Given the description of an element on the screen output the (x, y) to click on. 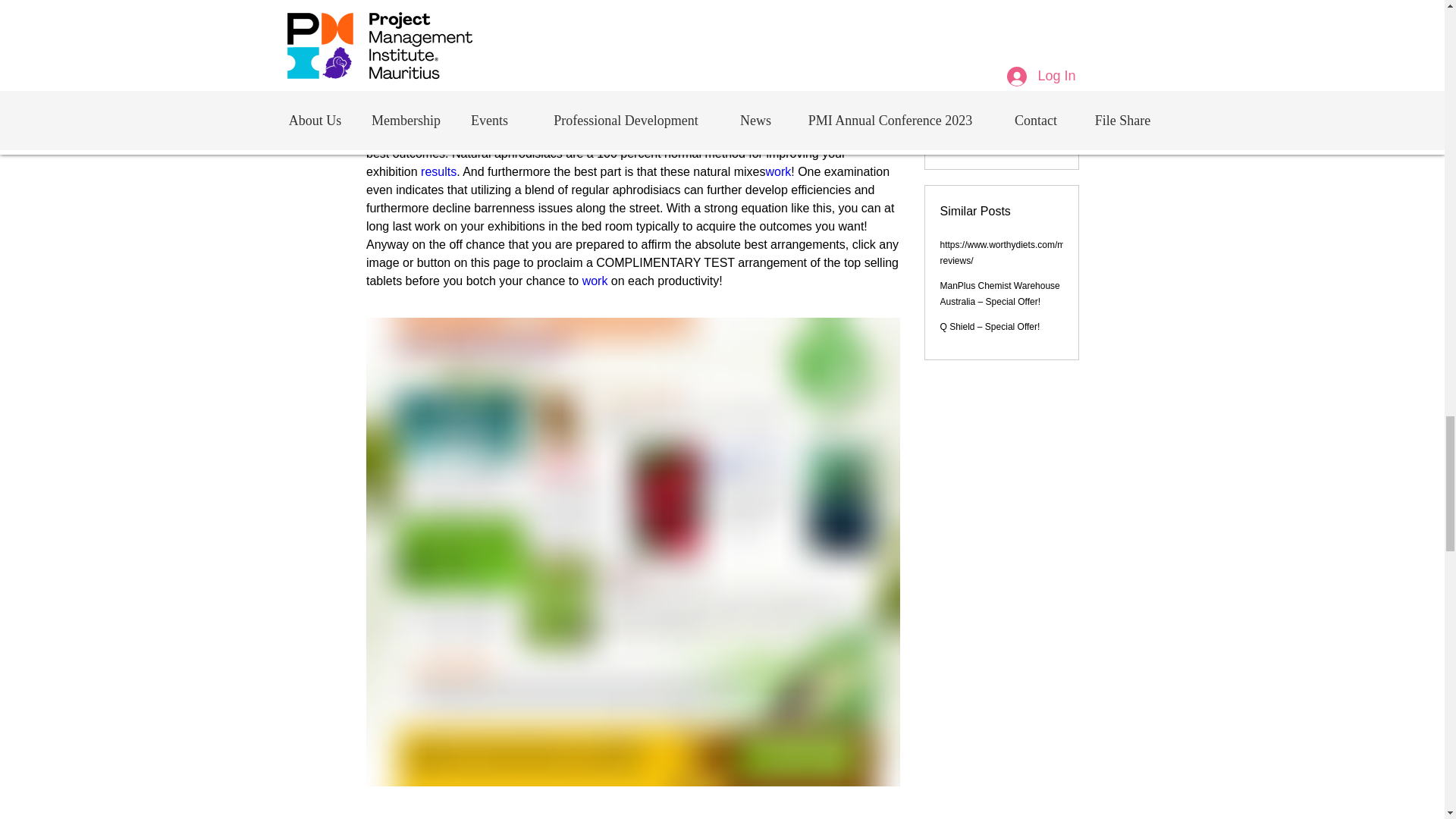
Man Plus Shark Tank Reviews UK (481, 98)
work (777, 171)
results (438, 171)
